Given the description of an element on the screen output the (x, y) to click on. 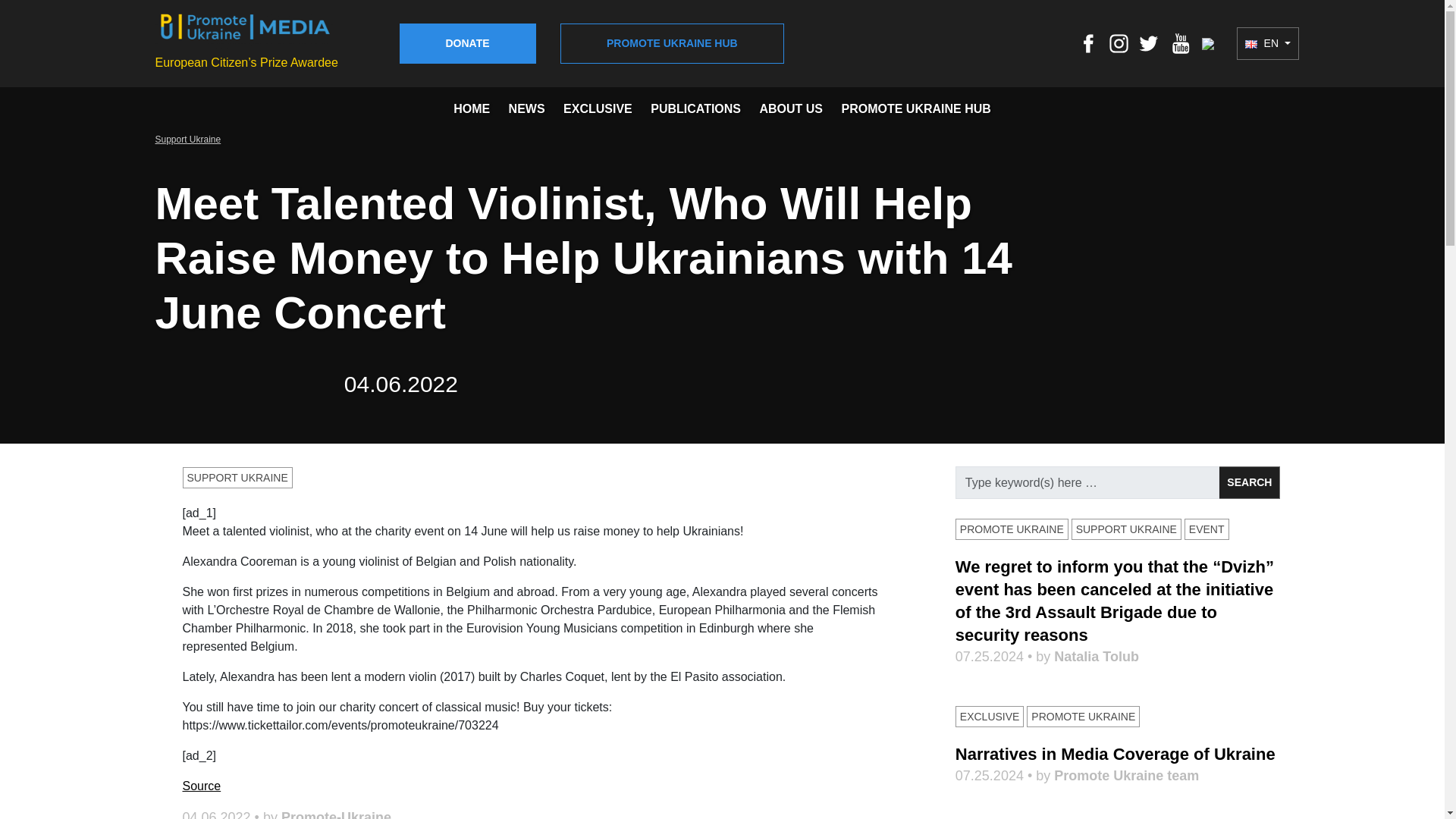
HOME (470, 108)
Narratives in Media Coverage of Ukraine (1115, 753)
NEWS (526, 108)
EXCLUSIVE (990, 716)
Support Ukraine (187, 139)
Narratives in Media Coverage of Ukraine (1115, 753)
Search (1248, 482)
PROMOTE UKRAINE HUB (915, 108)
Search (1248, 482)
Search (1248, 482)
YouTube (1180, 42)
SUPPORT UKRAINE (237, 477)
PROMOTE UKRAINE (1083, 716)
Instagram (1118, 42)
PUBLICATIONS (695, 108)
